Given the description of an element on the screen output the (x, y) to click on. 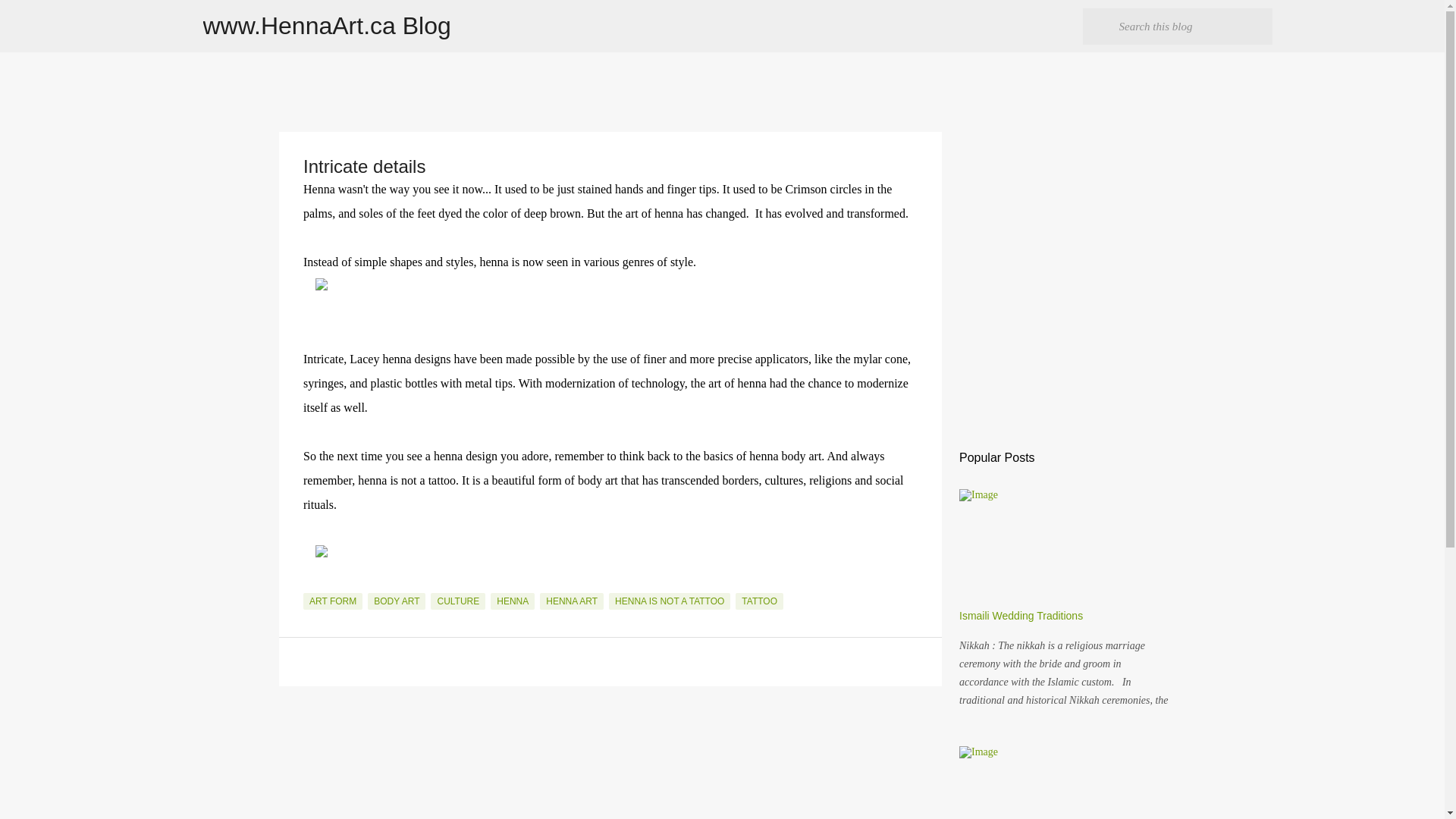
HENNA (512, 600)
www.HennaArt.ca Blog (327, 25)
ART FORM (332, 600)
Ismaili Wedding Traditions (1021, 615)
CULTURE (457, 600)
HENNA IS NOT A TATTOO (669, 600)
HENNA ART (572, 600)
TATTOO (759, 600)
BODY ART (396, 600)
